Given the description of an element on the screen output the (x, y) to click on. 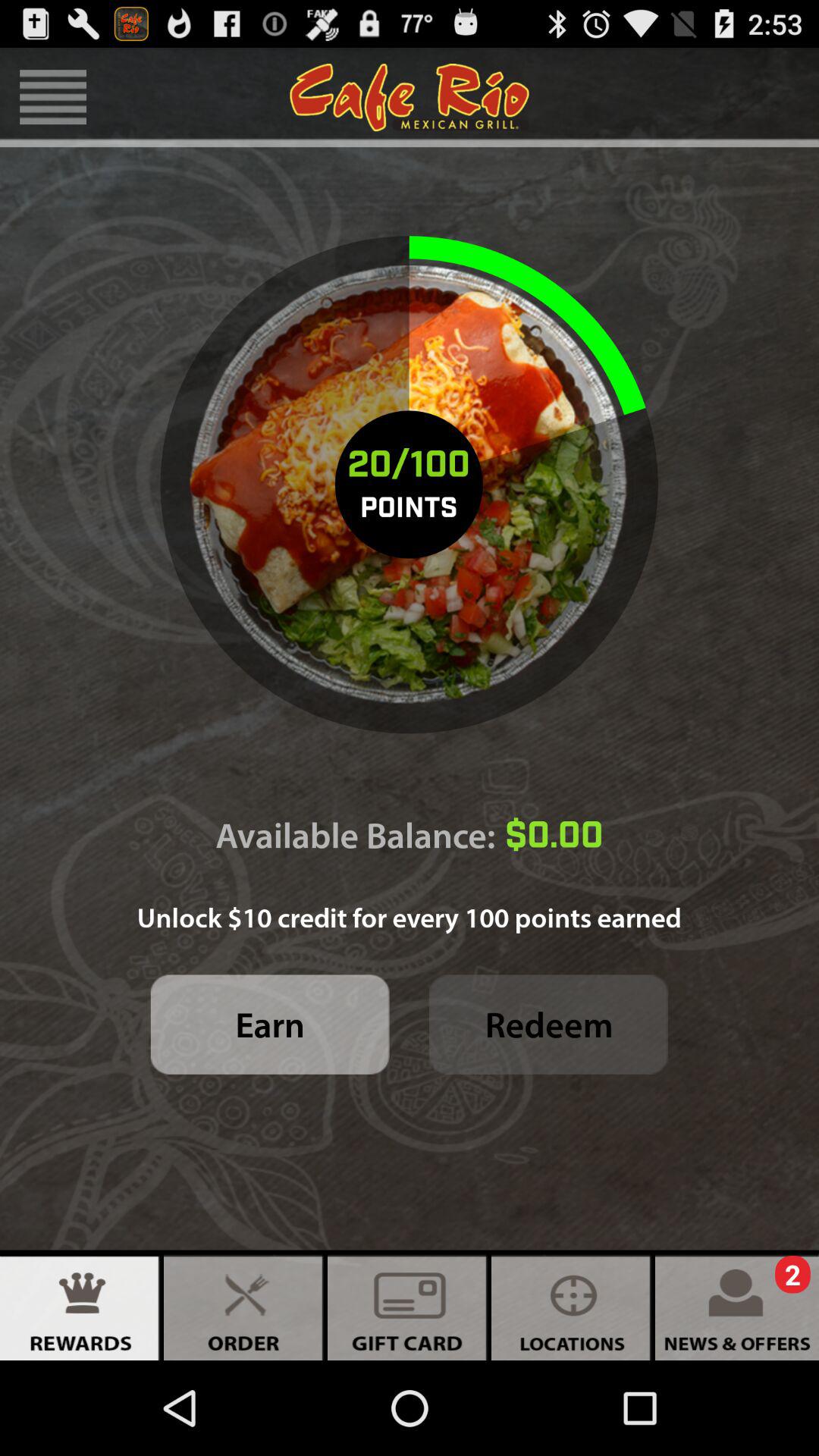
select item to the left of redeem (269, 1024)
